Given the description of an element on the screen output the (x, y) to click on. 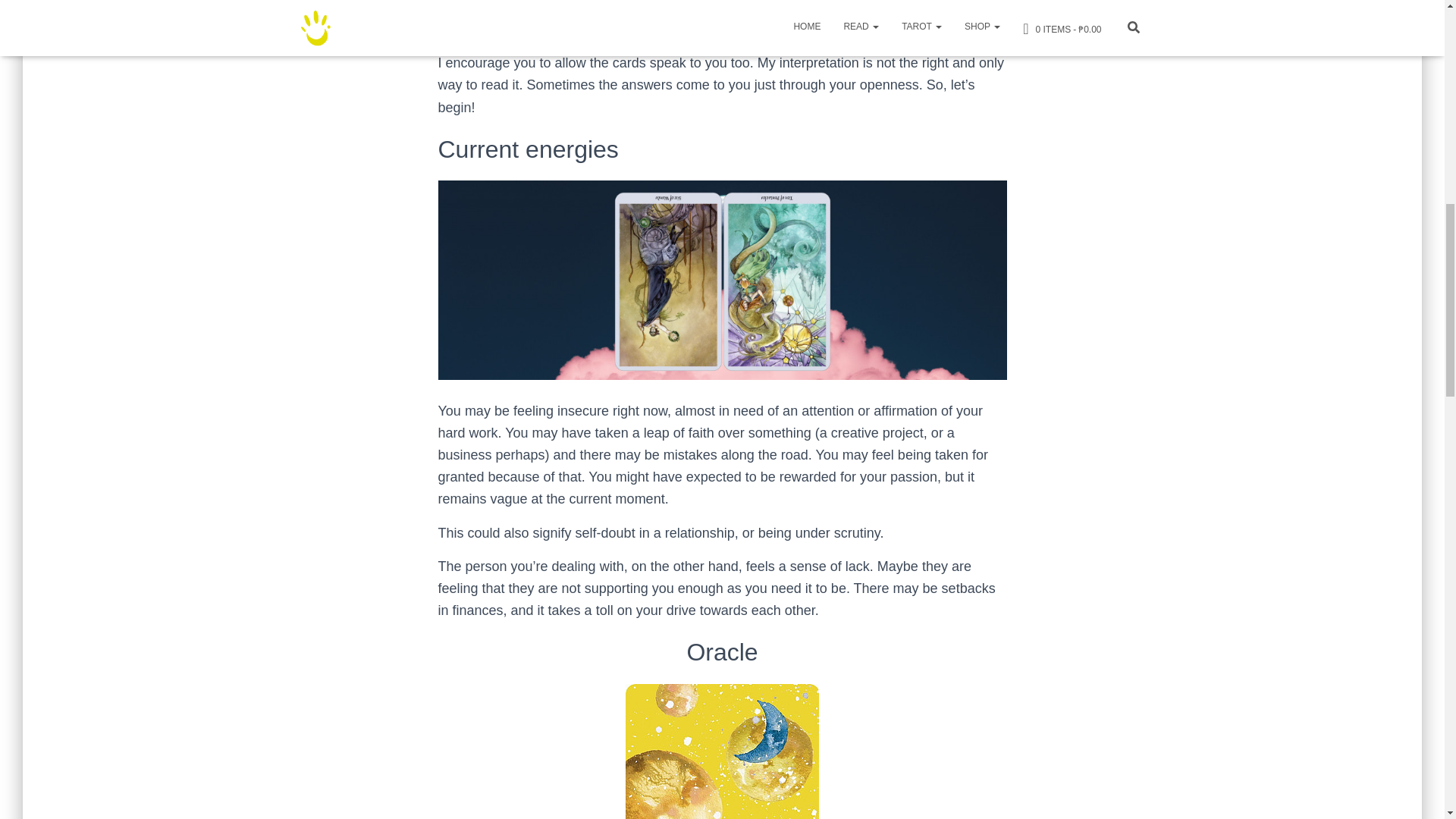
Sagittarius 6302020 (722, 280)
